Given the description of an element on the screen output the (x, y) to click on. 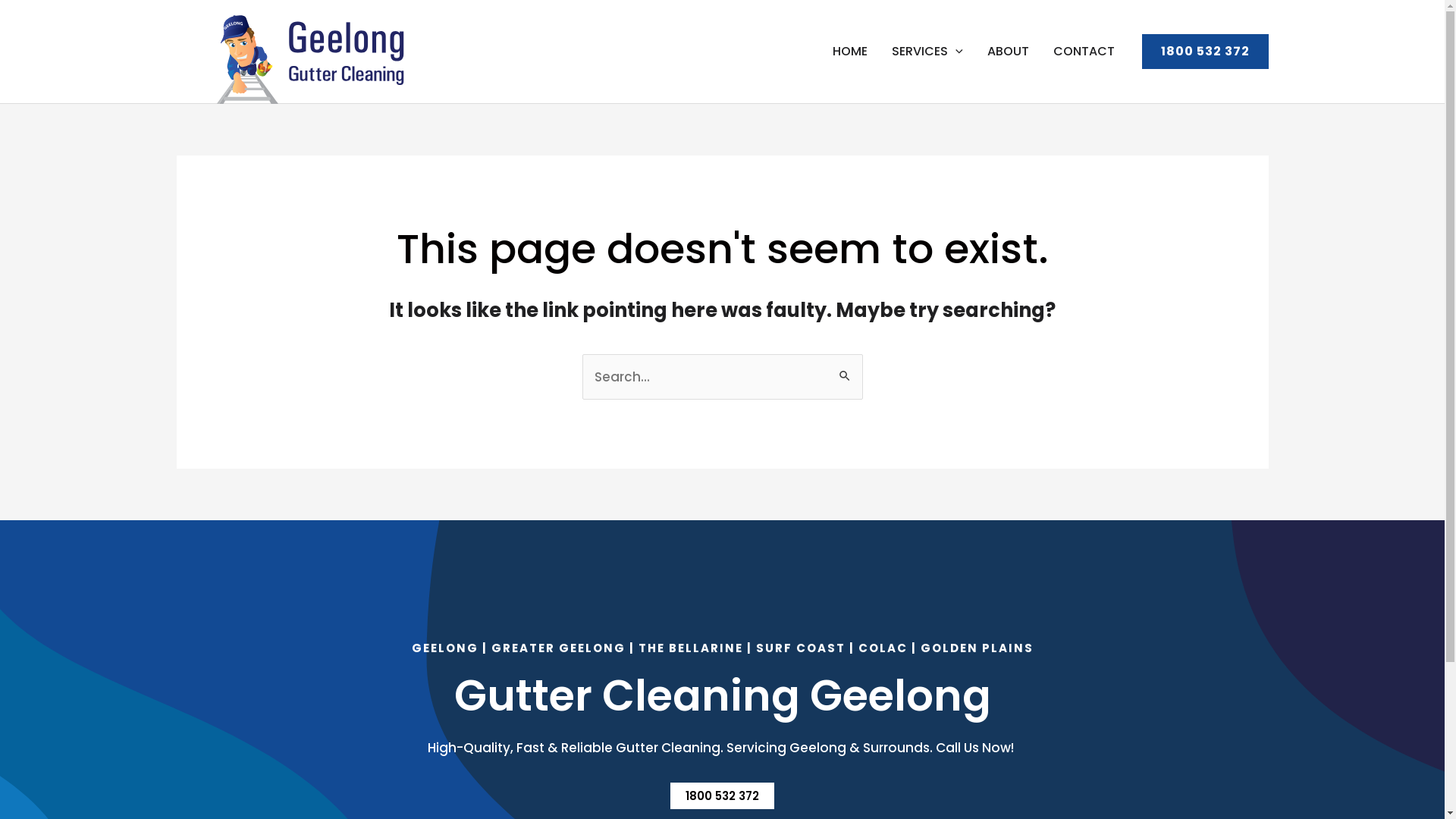
CONTACT Element type: text (1083, 51)
ABOUT Element type: text (1008, 51)
1800 532 372 Element type: text (722, 795)
SERVICES Element type: text (927, 51)
Search Element type: text (845, 369)
1800 532 372 Element type: text (1205, 51)
HOME Element type: text (849, 51)
